Given the description of an element on the screen output the (x, y) to click on. 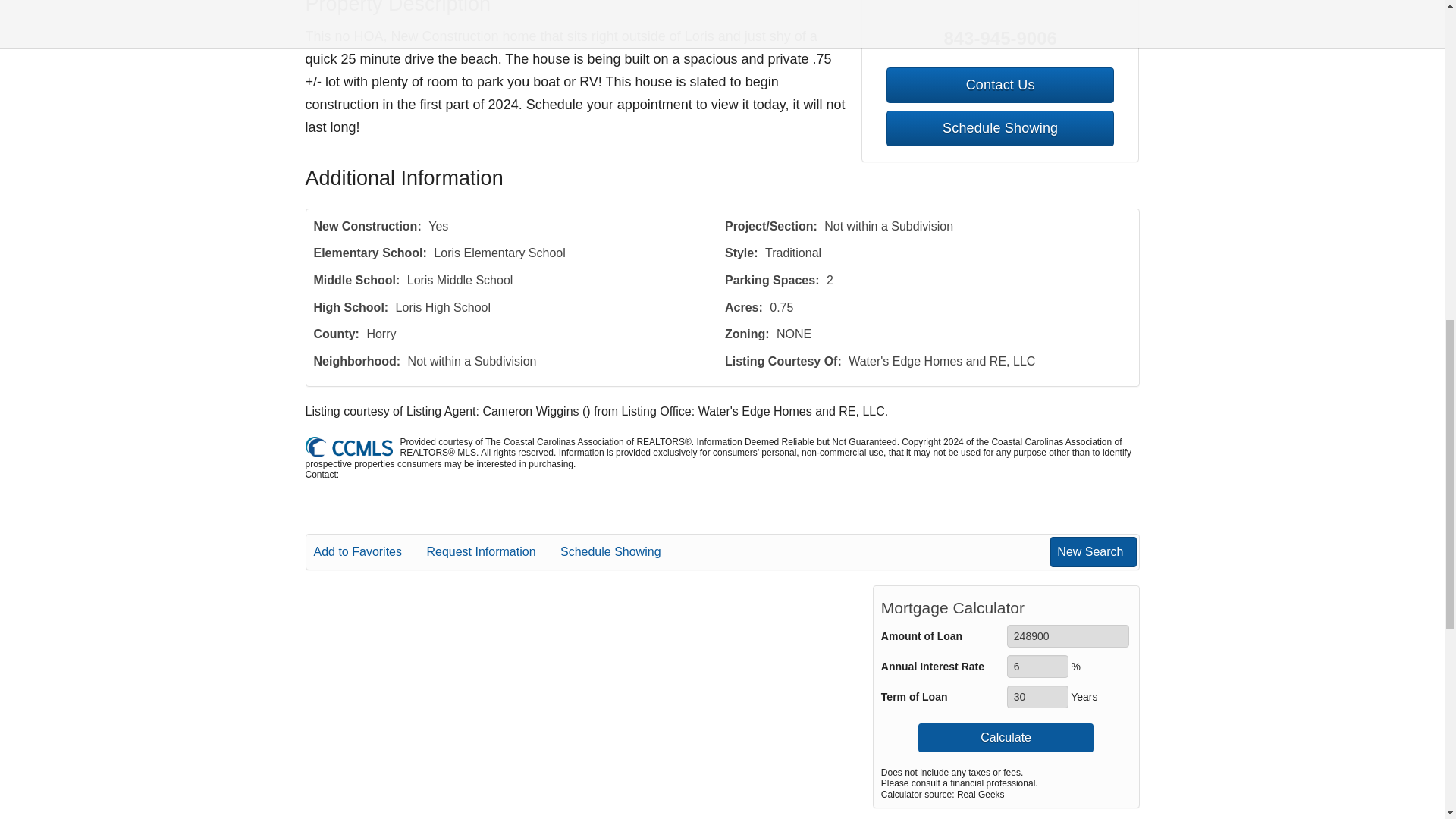
248900 (1068, 635)
6 (1037, 666)
30 (1037, 696)
